Given the description of an element on the screen output the (x, y) to click on. 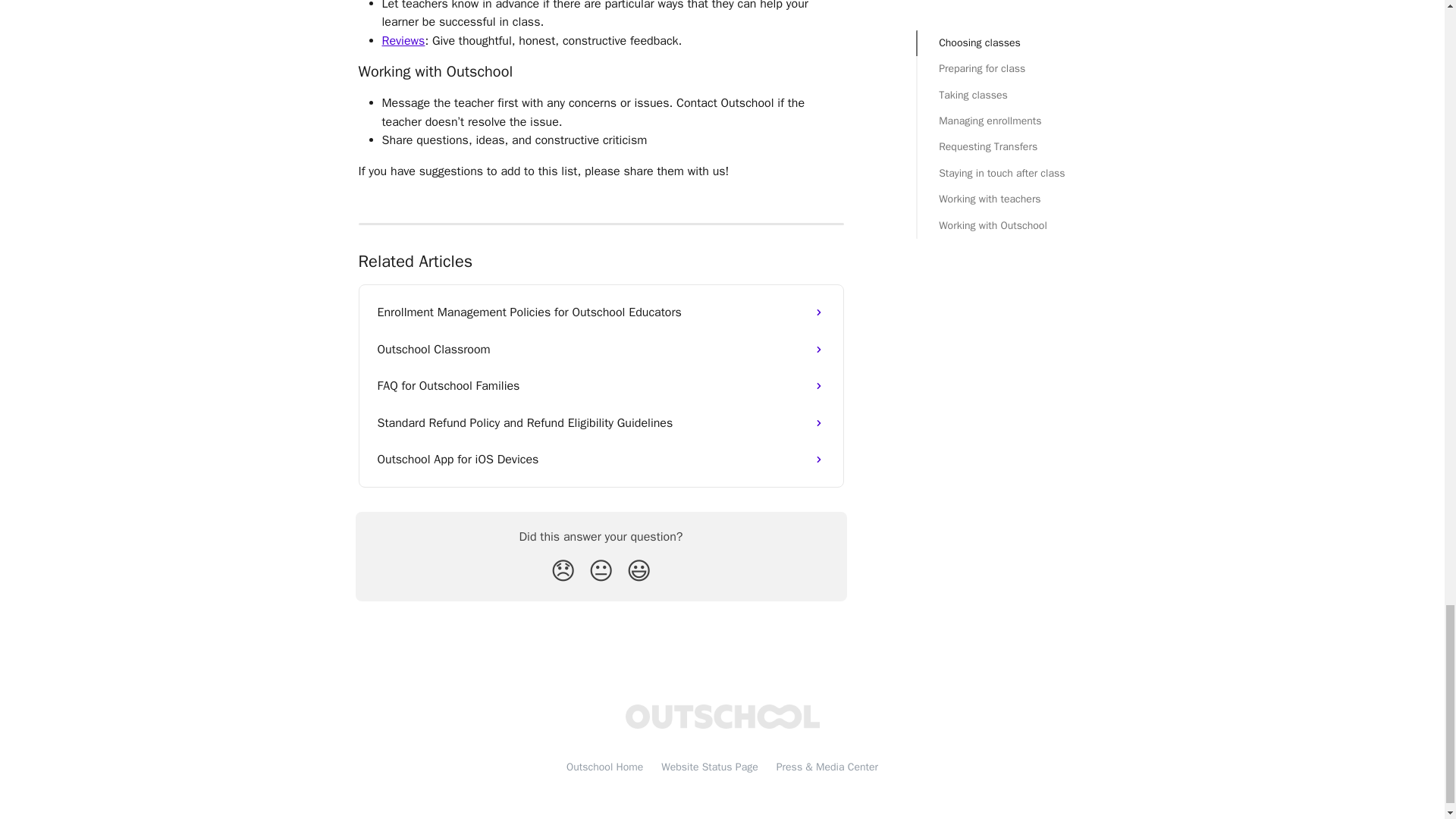
Reviews (403, 40)
FAQ for Outschool Families (601, 385)
Outschool Classroom (601, 349)
Enrollment Management Policies for Outschool Educators (601, 312)
